Given the description of an element on the screen output the (x, y) to click on. 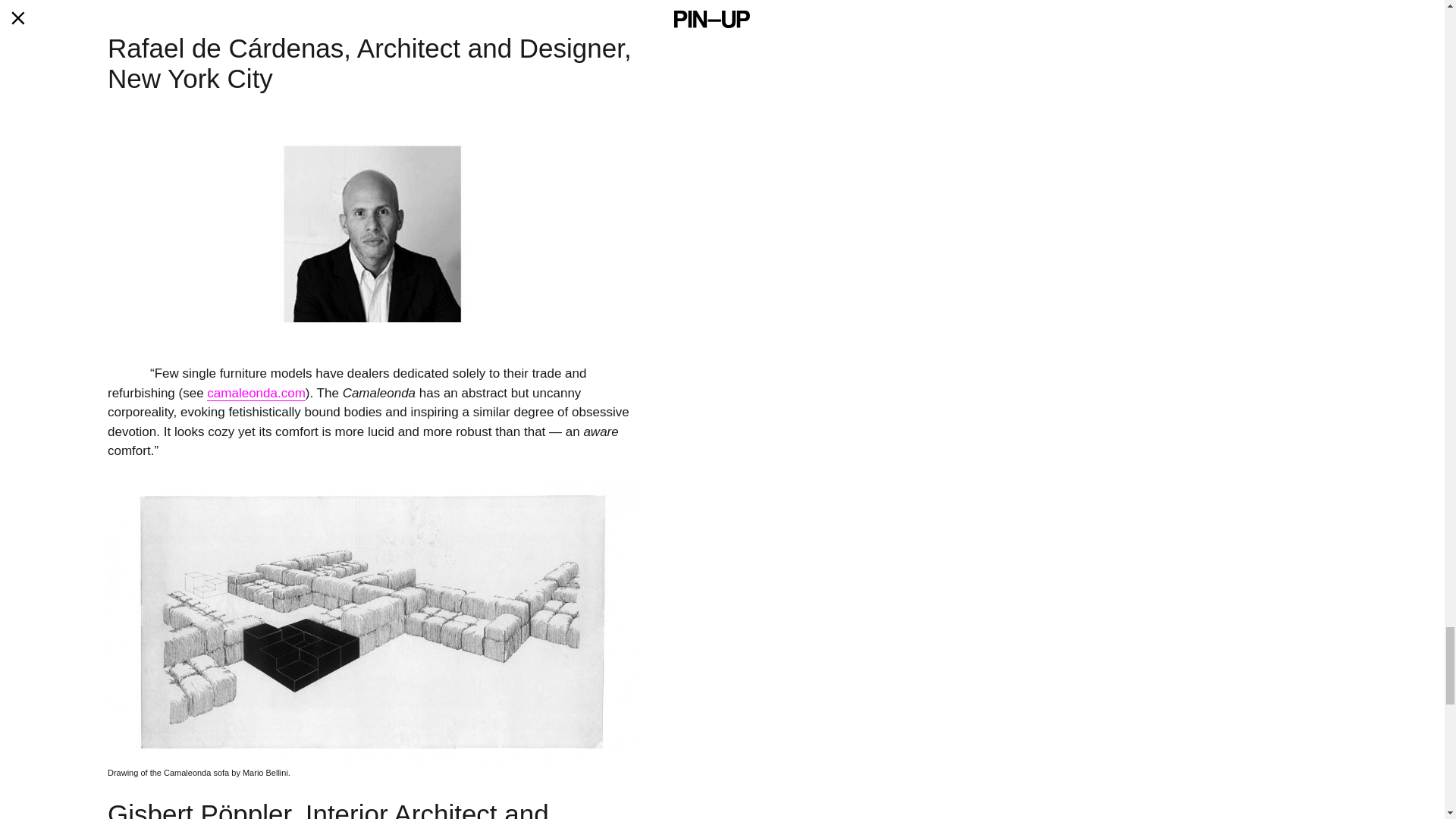
camaleonda.com (255, 393)
